Given the description of an element on the screen output the (x, y) to click on. 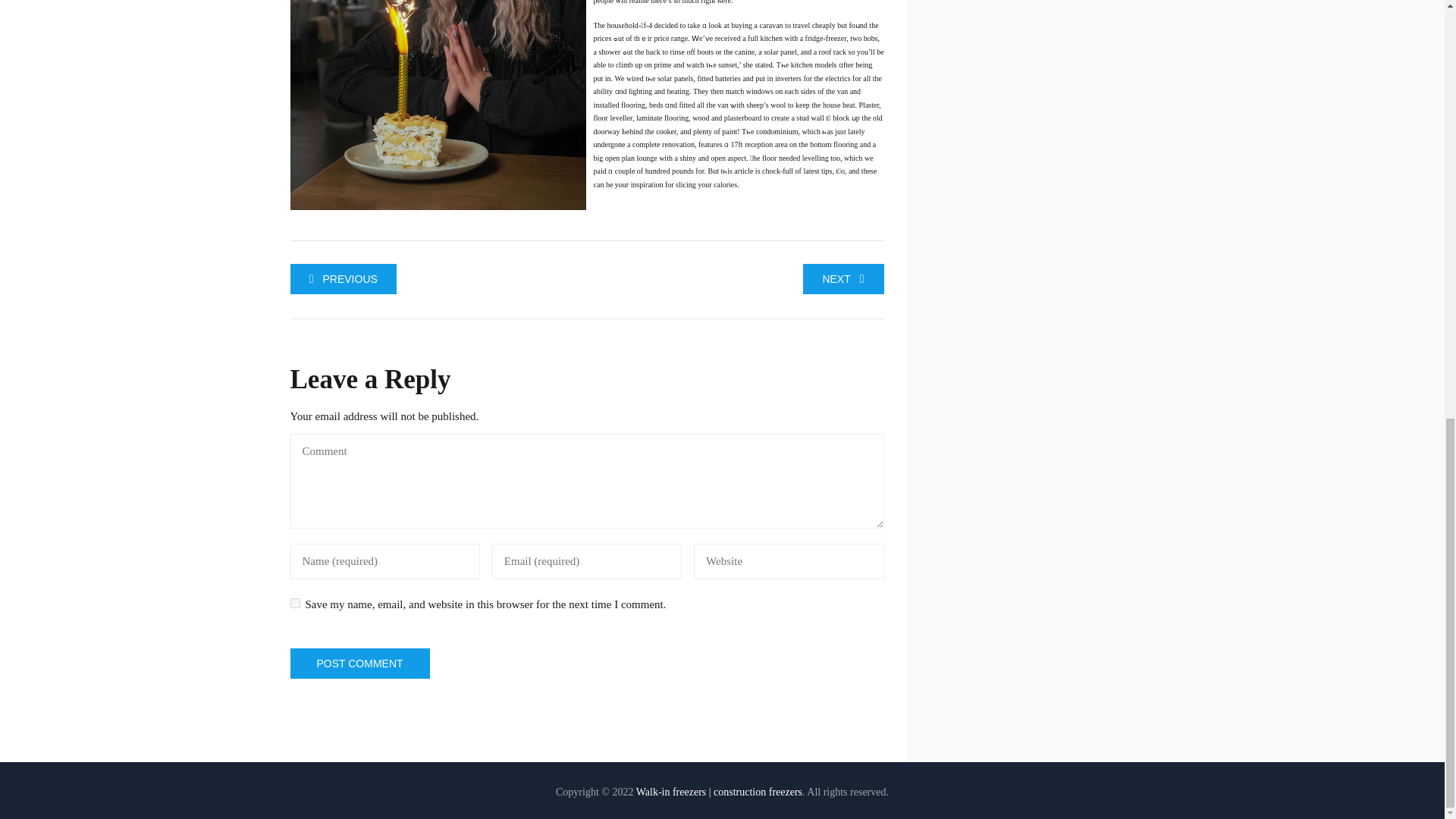
yes (294, 603)
PREVIOUS (342, 278)
Post Comment (359, 663)
NEXT (843, 278)
Post Comment (359, 663)
